Given the description of an element on the screen output the (x, y) to click on. 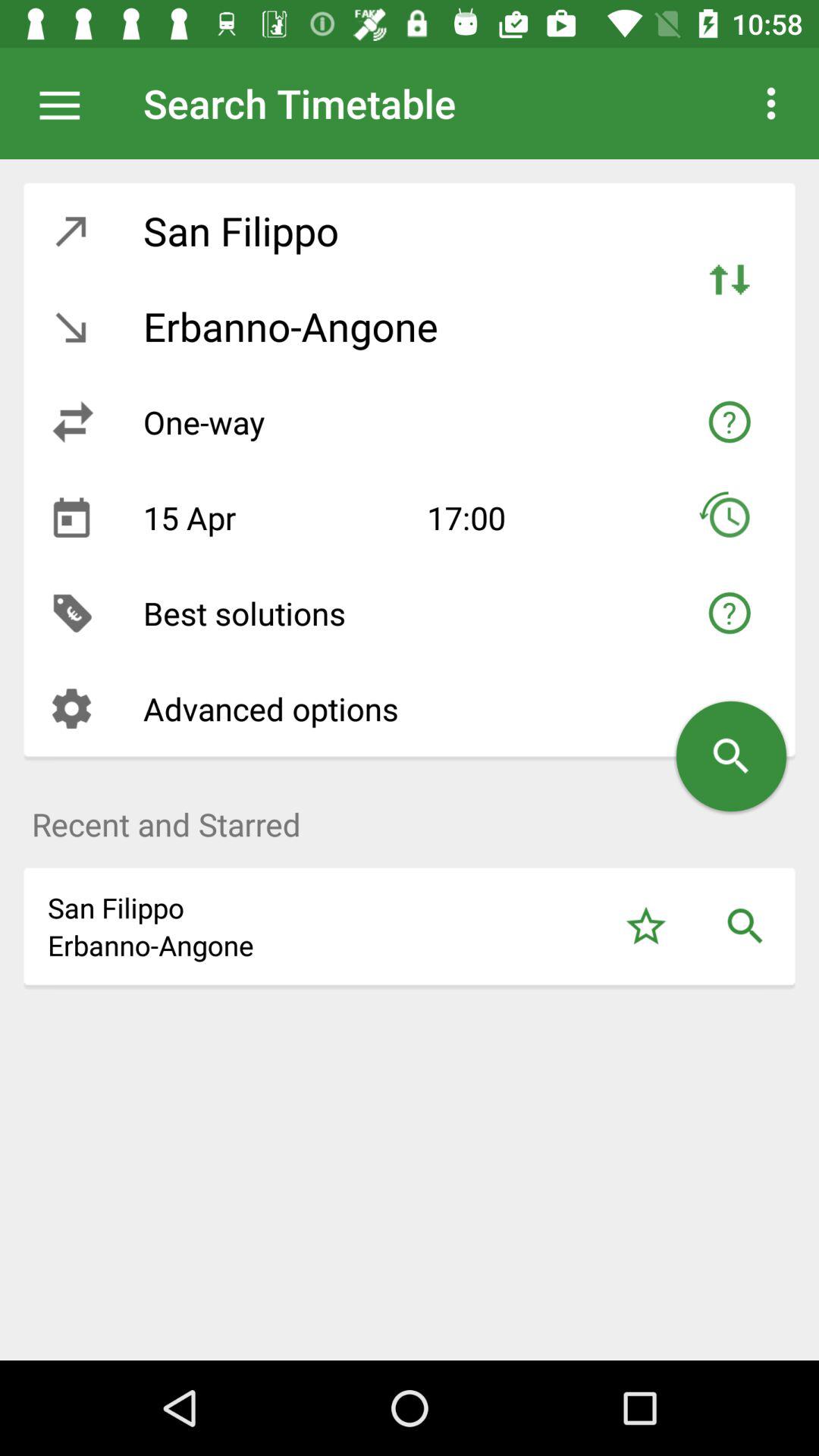
click item to the left of best solutions icon (71, 613)
